Given the description of an element on the screen output the (x, y) to click on. 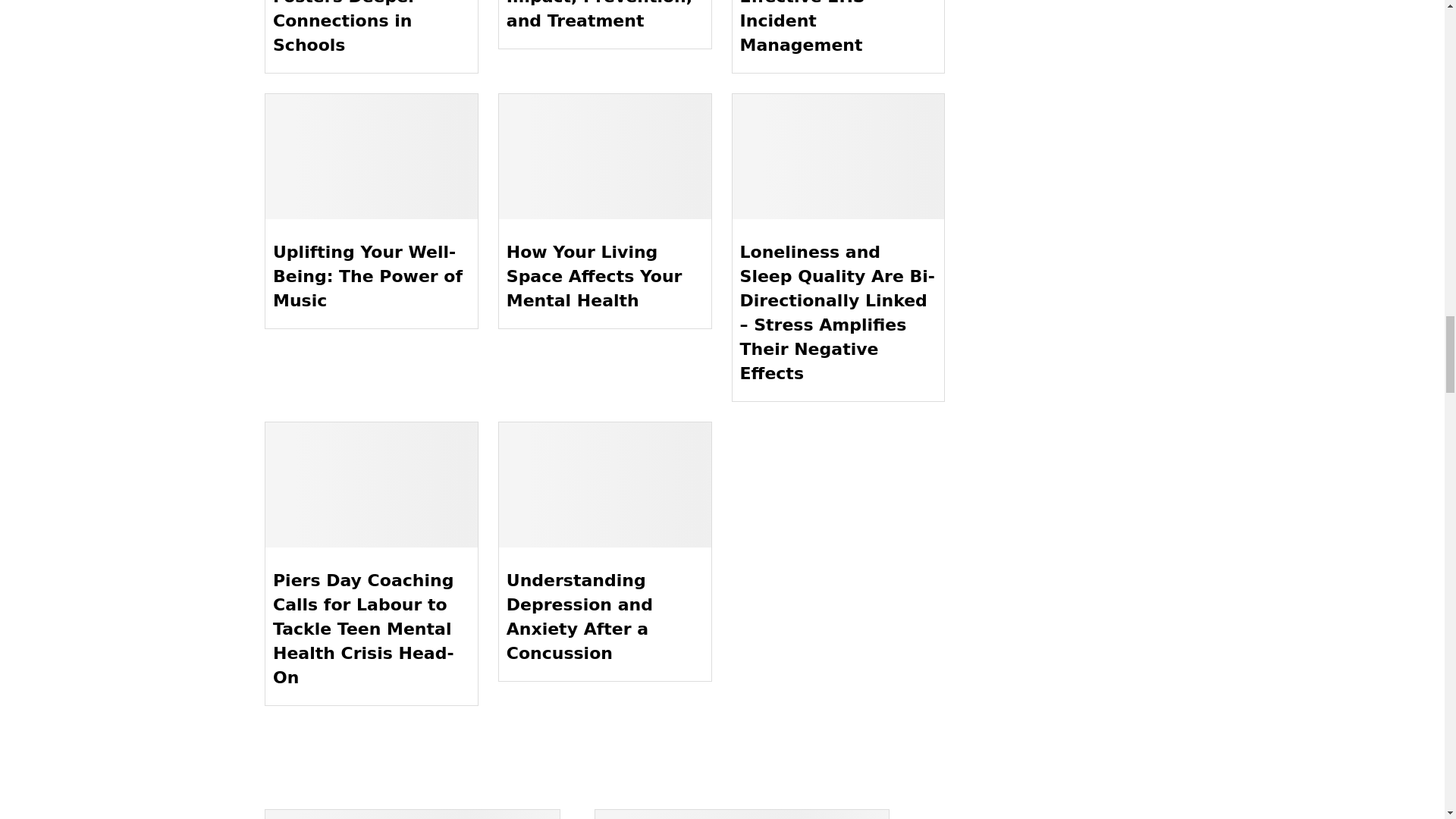
Uplifting Your Well-Being: The Power of Music (370, 156)
Understanding Depression and Anxiety After a Concussion (605, 484)
How Your Living Space Affects Your Mental Health (605, 156)
